Given the description of an element on the screen output the (x, y) to click on. 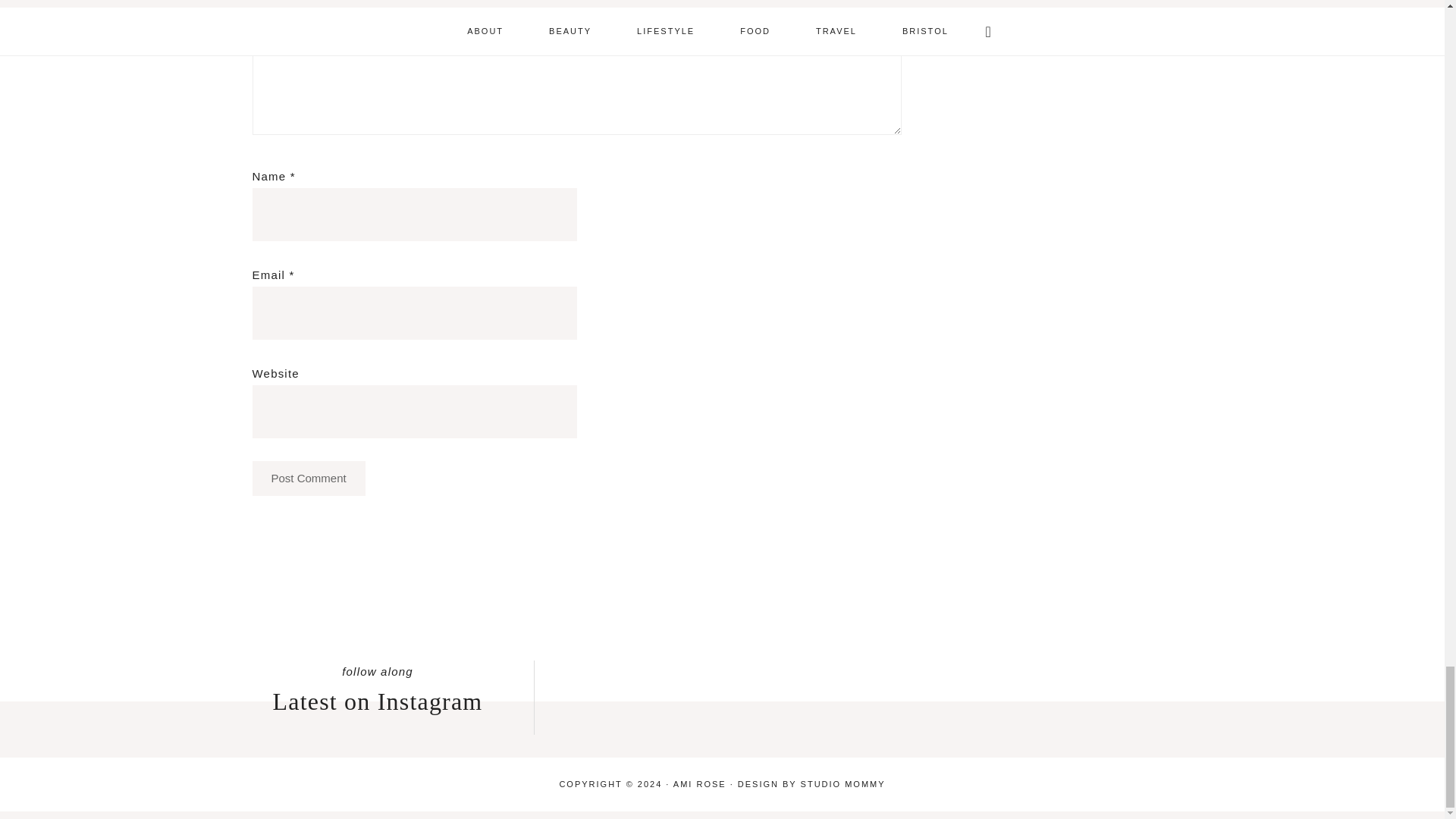
Post Comment (308, 478)
Post Comment (308, 478)
